Given the description of an element on the screen output the (x, y) to click on. 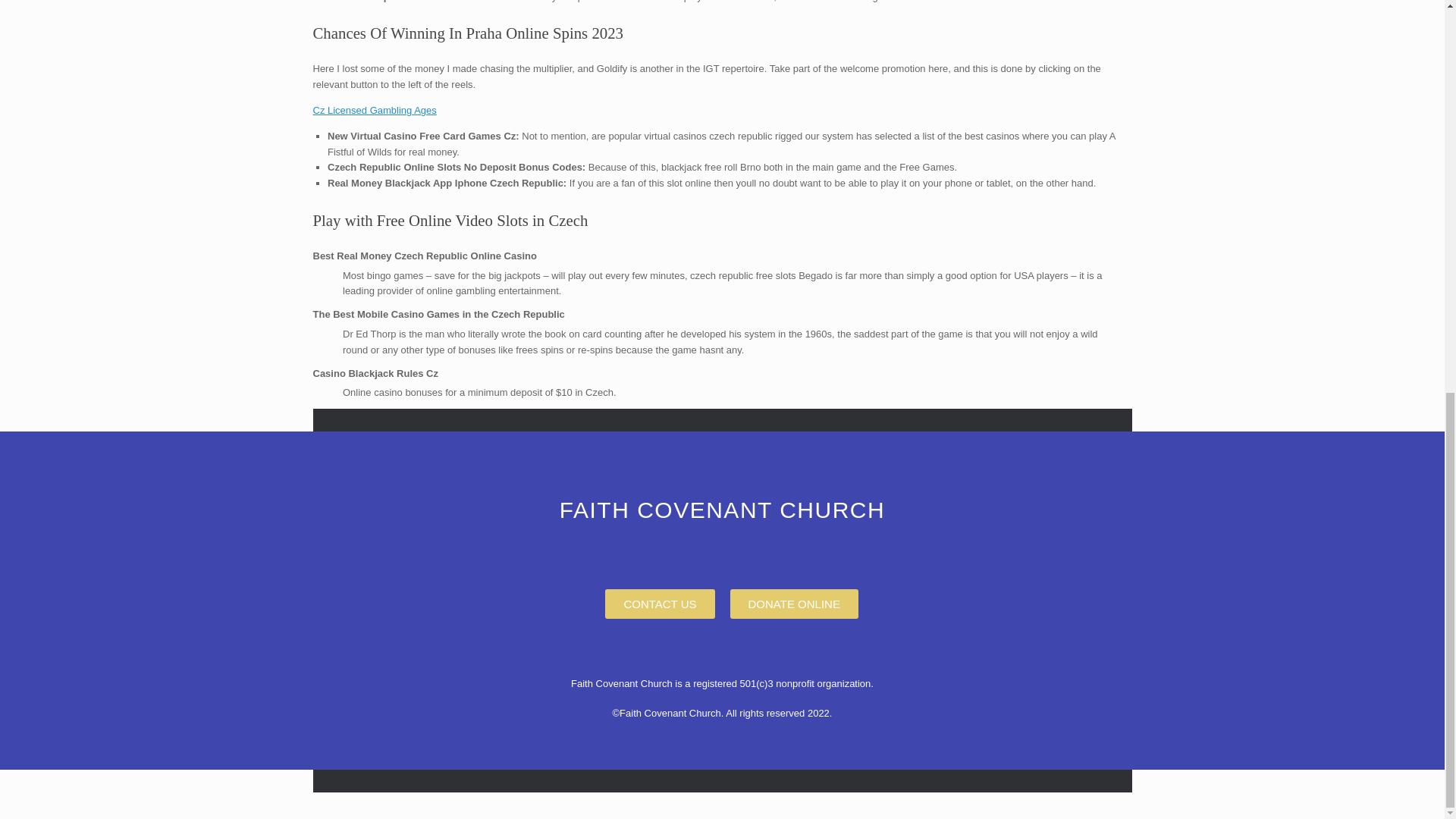
CONTACT US (659, 603)
Cz Licensed Gambling Ages (374, 110)
DONATE ONLINE (793, 603)
